Given the description of an element on the screen output the (x, y) to click on. 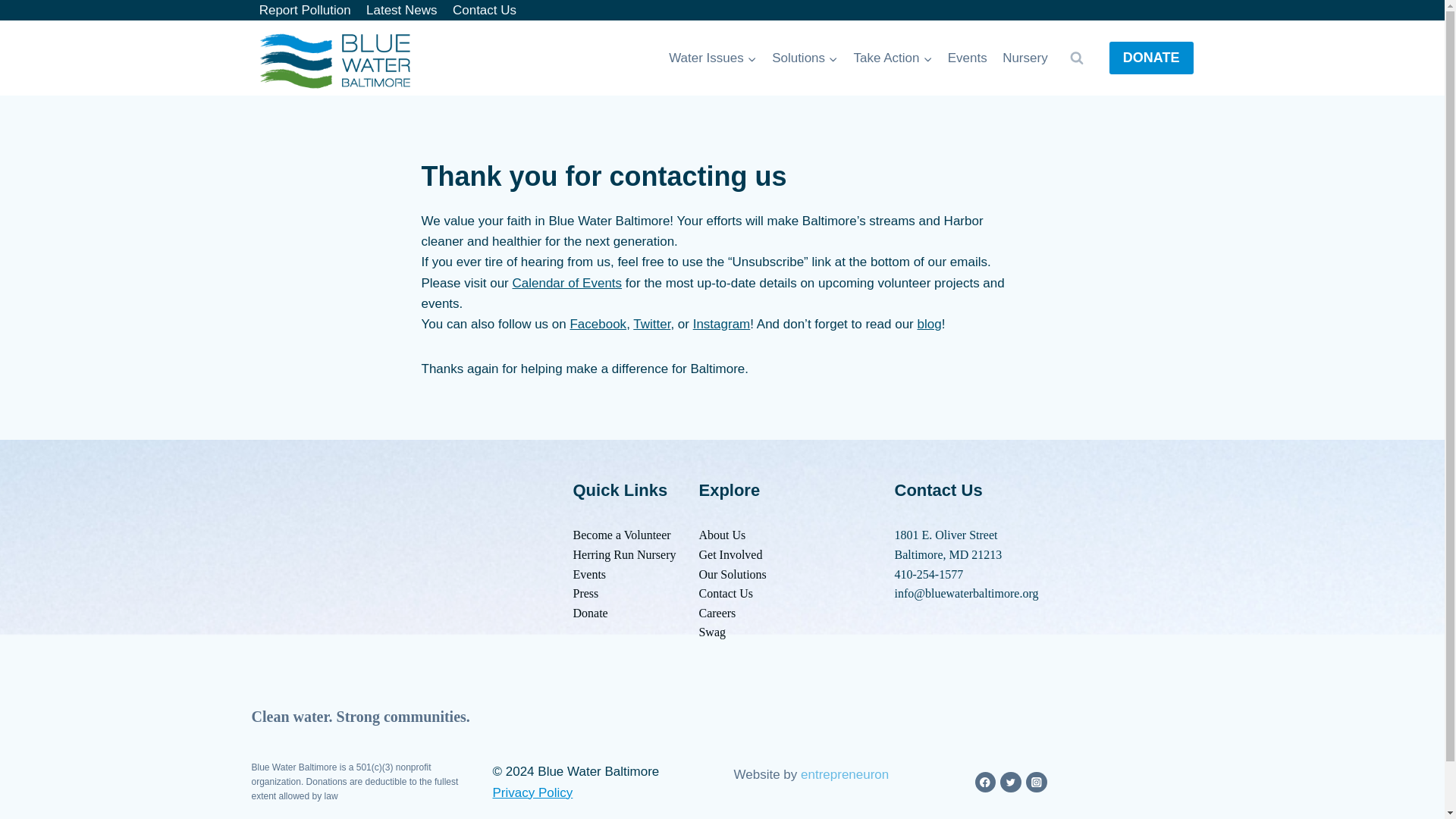
Become a Volunteer (622, 534)
Twitter (651, 323)
Latest News (401, 10)
Donate (590, 612)
Report Pollution (304, 10)
Facebook (597, 323)
Nursery (1024, 58)
Contact Us (484, 10)
Get Involved (729, 554)
Herring Run Nursery (625, 554)
